Given the description of an element on the screen output the (x, y) to click on. 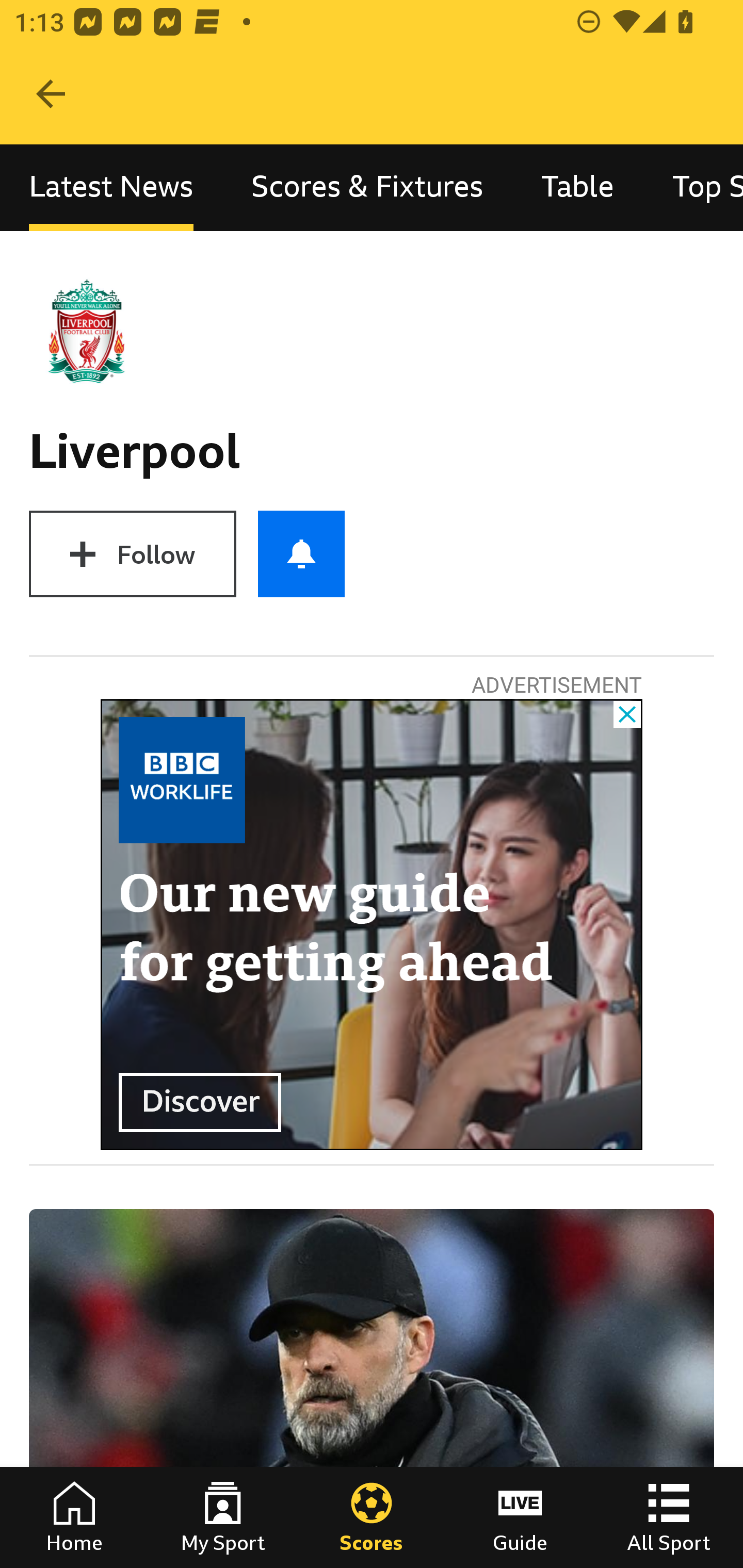
Navigate up (50, 93)
Latest News, selected Latest News (111, 187)
Scores & Fixtures (367, 187)
Table (577, 187)
Top Scorers (693, 187)
Follow Liverpool Follow (132, 554)
Push notifications for Liverpool (300, 554)
Home (74, 1517)
My Sport (222, 1517)
Guide (519, 1517)
All Sport (668, 1517)
